Given the description of an element on the screen output the (x, y) to click on. 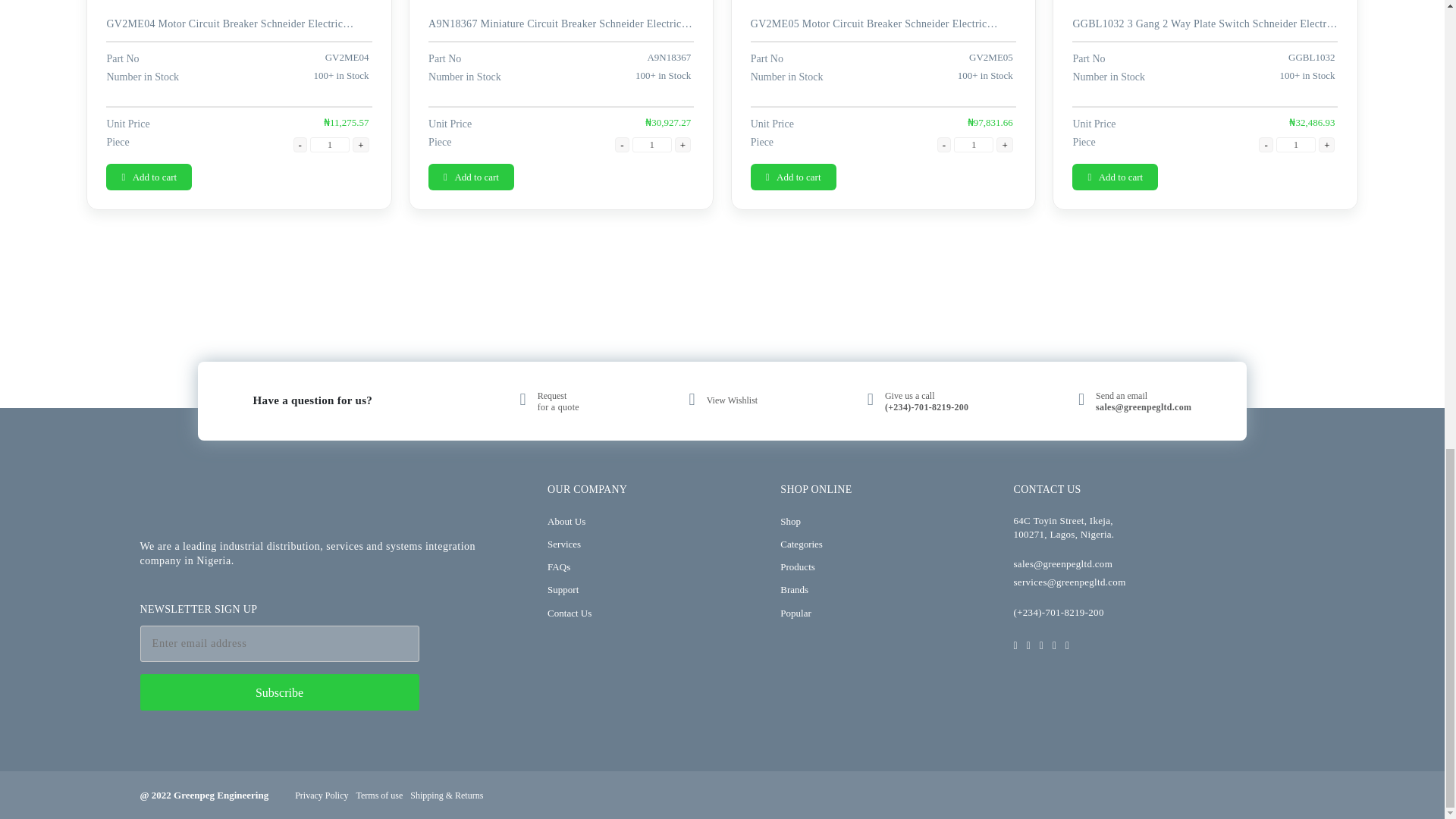
1 (1296, 144)
Qty (1296, 144)
1 (329, 144)
1 (972, 144)
Qty (329, 144)
1 (651, 144)
Qty (651, 144)
Qty (972, 144)
Subscribe (279, 692)
